Given the description of an element on the screen output the (x, y) to click on. 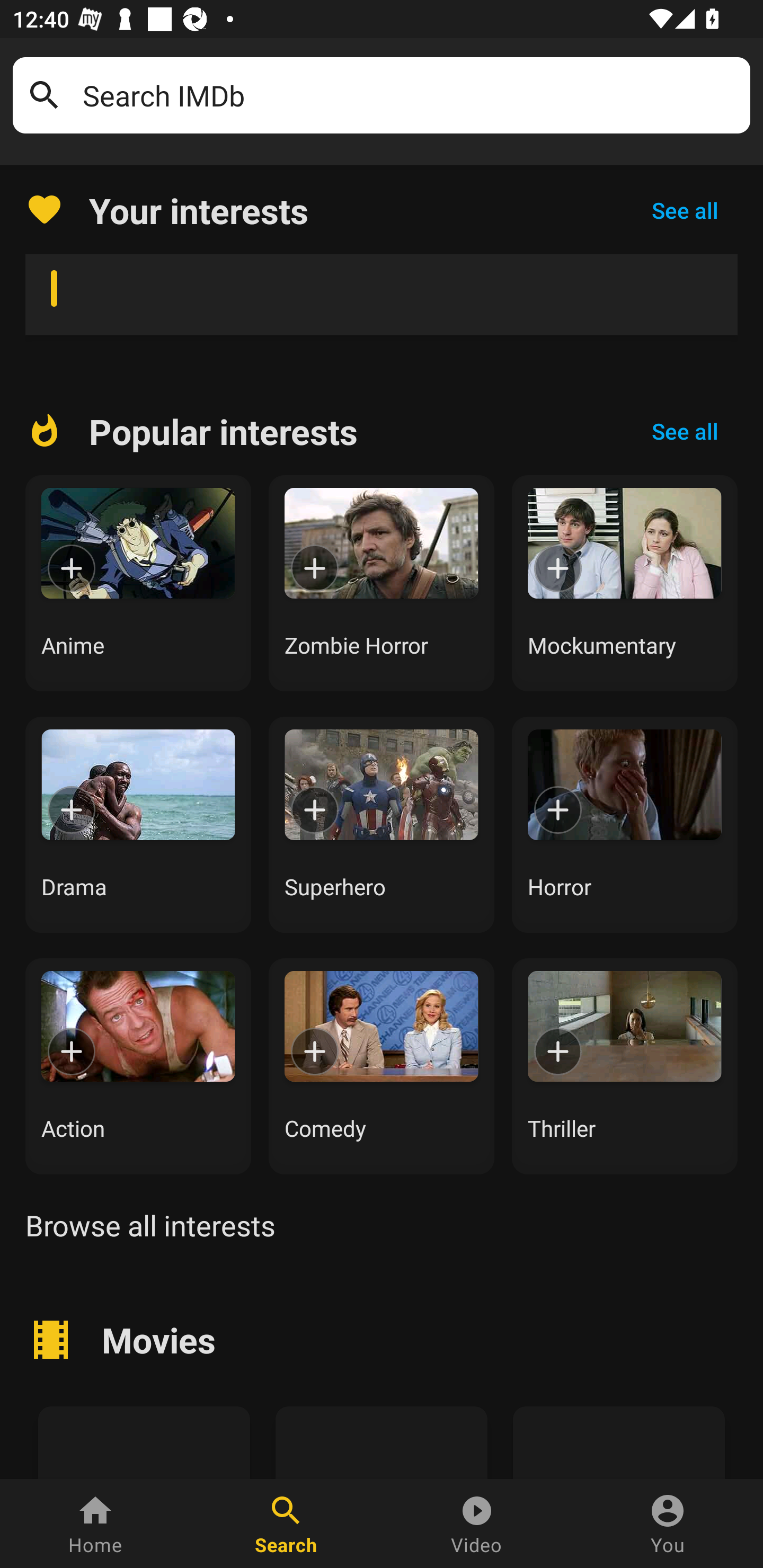
Search IMDb (410, 95)
See all (684, 209)
See all (684, 430)
Anime (138, 583)
Zombie Horror (381, 583)
Mockumentary (624, 583)
Drama (138, 824)
Superhero (381, 824)
Horror (624, 824)
Action (138, 1065)
Comedy (381, 1065)
Thriller (624, 1065)
Browse all interests (150, 1224)
Home (95, 1523)
Video (476, 1523)
You (667, 1523)
